Given the description of an element on the screen output the (x, y) to click on. 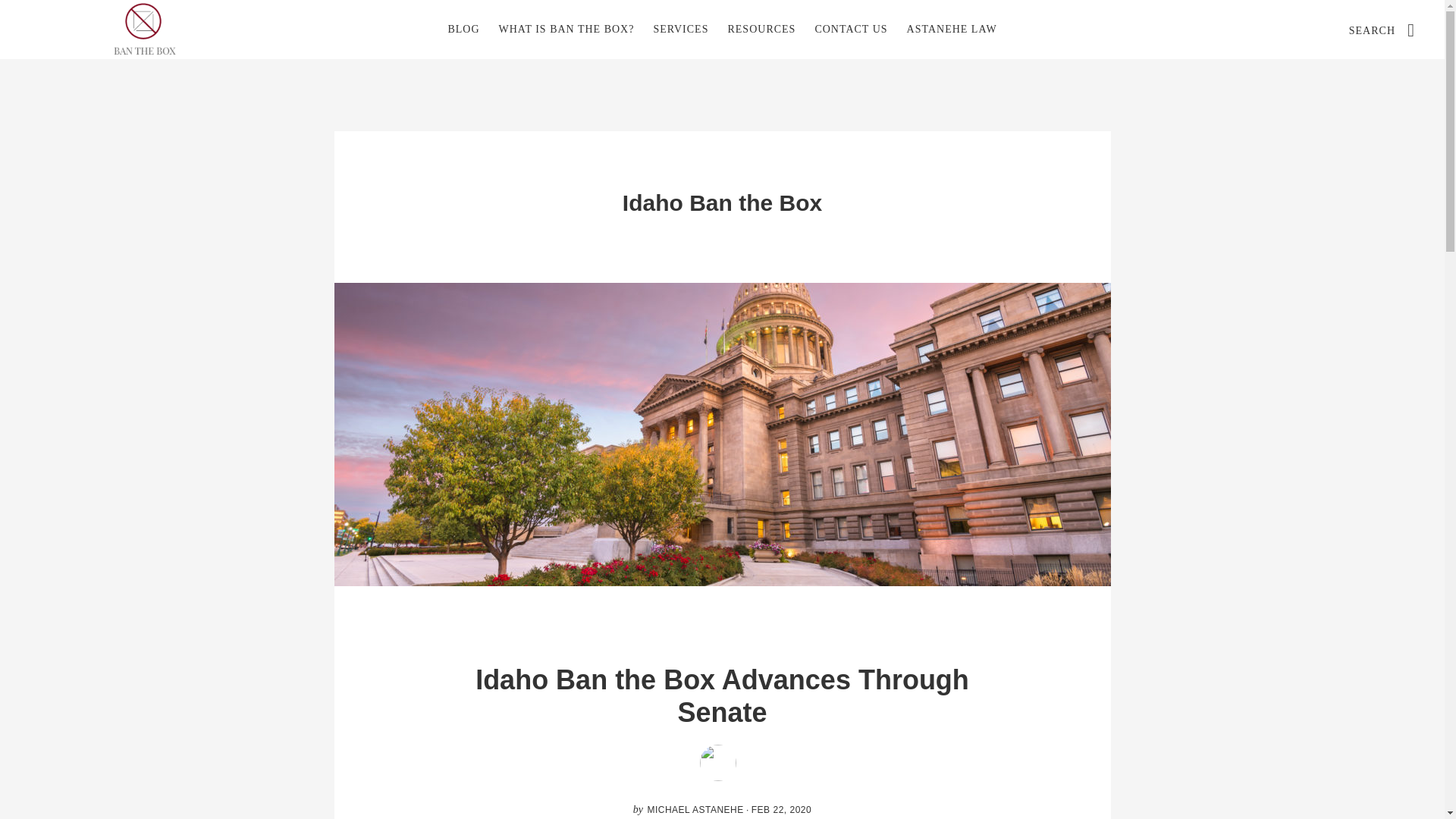
MICHAEL ASTANEHE (694, 809)
SERVICES (680, 29)
BAN THE BOX (143, 28)
Idaho Ban the Box Advances Through Senate (722, 696)
WHAT IS BAN THE BOX? (567, 29)
CONTACT US (850, 29)
BLOG (462, 29)
ASTANEHE LAW (951, 29)
RESOURCES (761, 29)
